Given the description of an element on the screen output the (x, y) to click on. 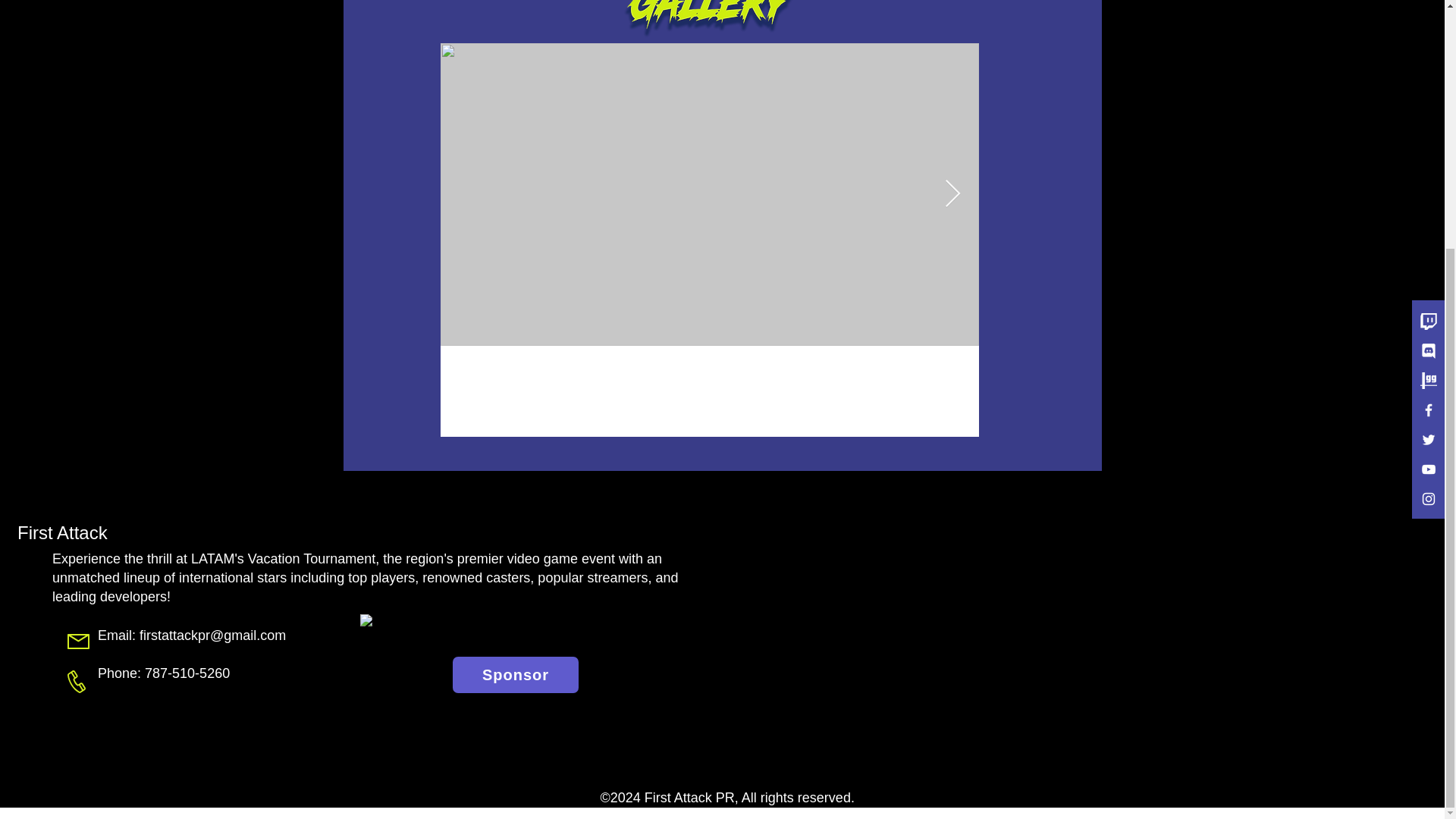
Become a sponsor.png (515, 632)
